Given the description of an element on the screen output the (x, y) to click on. 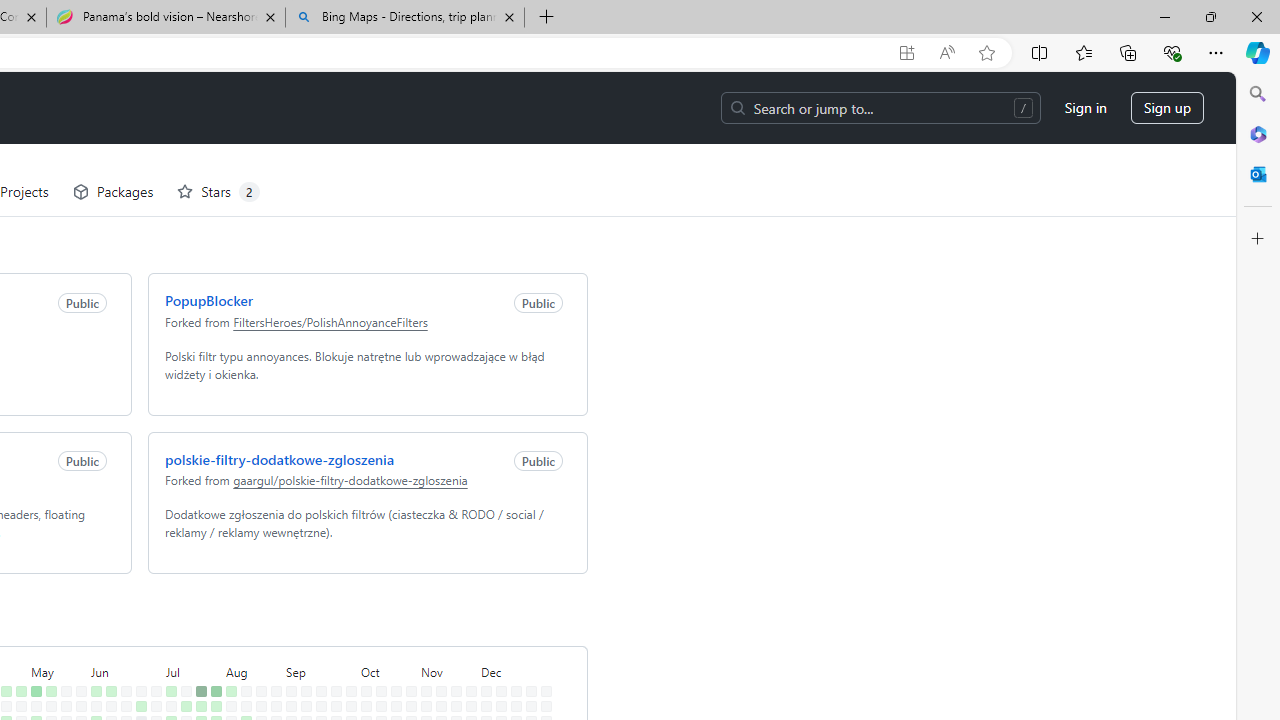
September (317, 598)
No contributions on June 17th. (122, 634)
2 contributions on July 15th. (182, 634)
3 contributions on August 4th. (226, 619)
No contributions on June 7th. (92, 694)
No contributions on September 19th. (317, 678)
polskie-filtry-dodatkowe-zgloszenia (275, 386)
No contributions on September 30th. (347, 634)
No contributions on December 11th. (497, 664)
No contributions on July 10th. (167, 664)
2 contributions on May 30th. (77, 678)
No contributions on October 29th. (407, 649)
No contributions on October 13th. (377, 619)
No contributions on December 24th. (527, 649)
No contributions on May 19th. (62, 619)
